Given the description of an element on the screen output the (x, y) to click on. 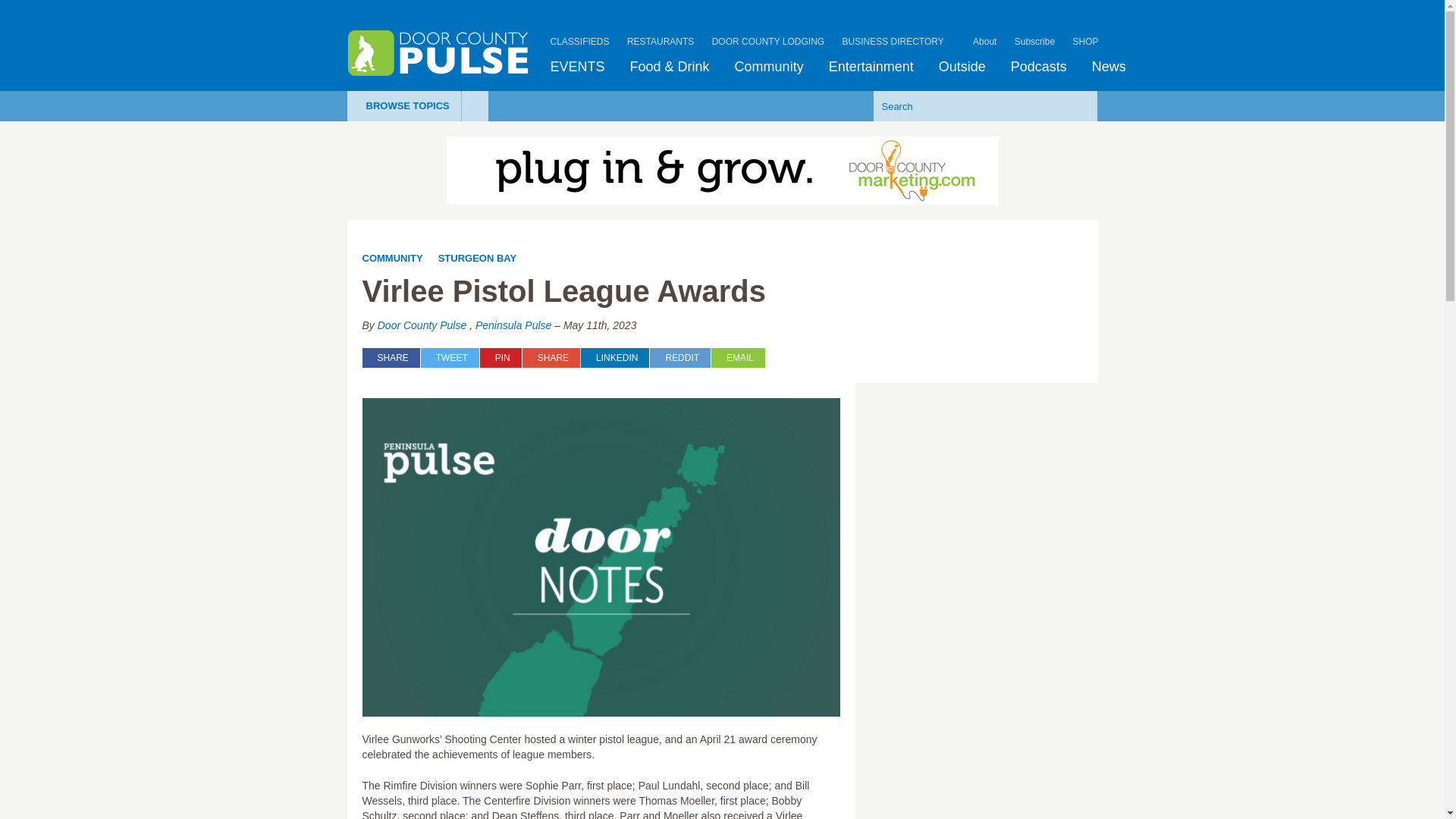
EVENTS (577, 66)
Entertainment (871, 66)
Outside (961, 66)
Community (768, 66)
Search for: (962, 105)
Door County Pulse (437, 53)
Posts by Door County Pulse (422, 325)
